Given the description of an element on the screen output the (x, y) to click on. 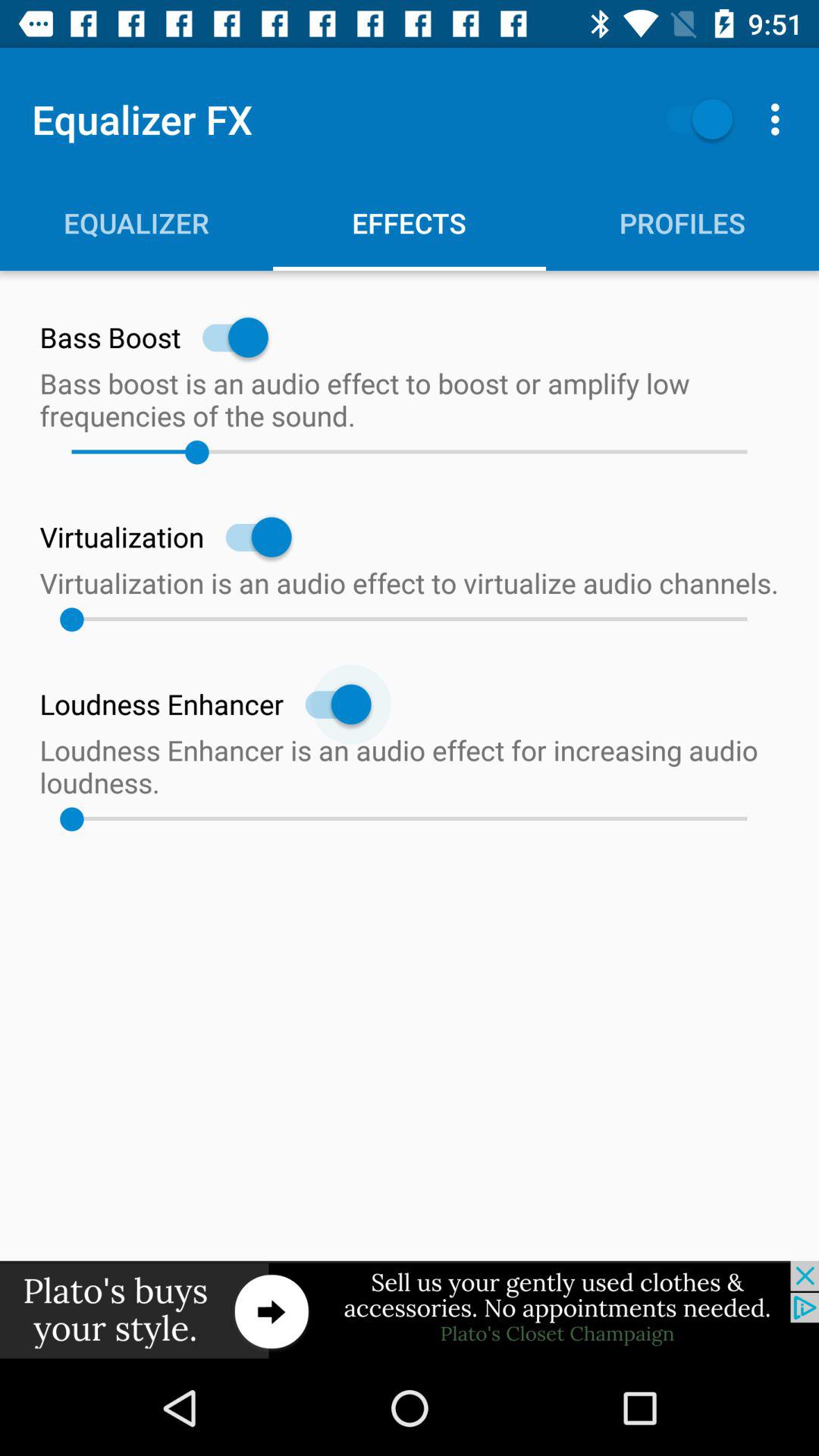
toggle equalizer (691, 119)
